Given the description of an element on the screen output the (x, y) to click on. 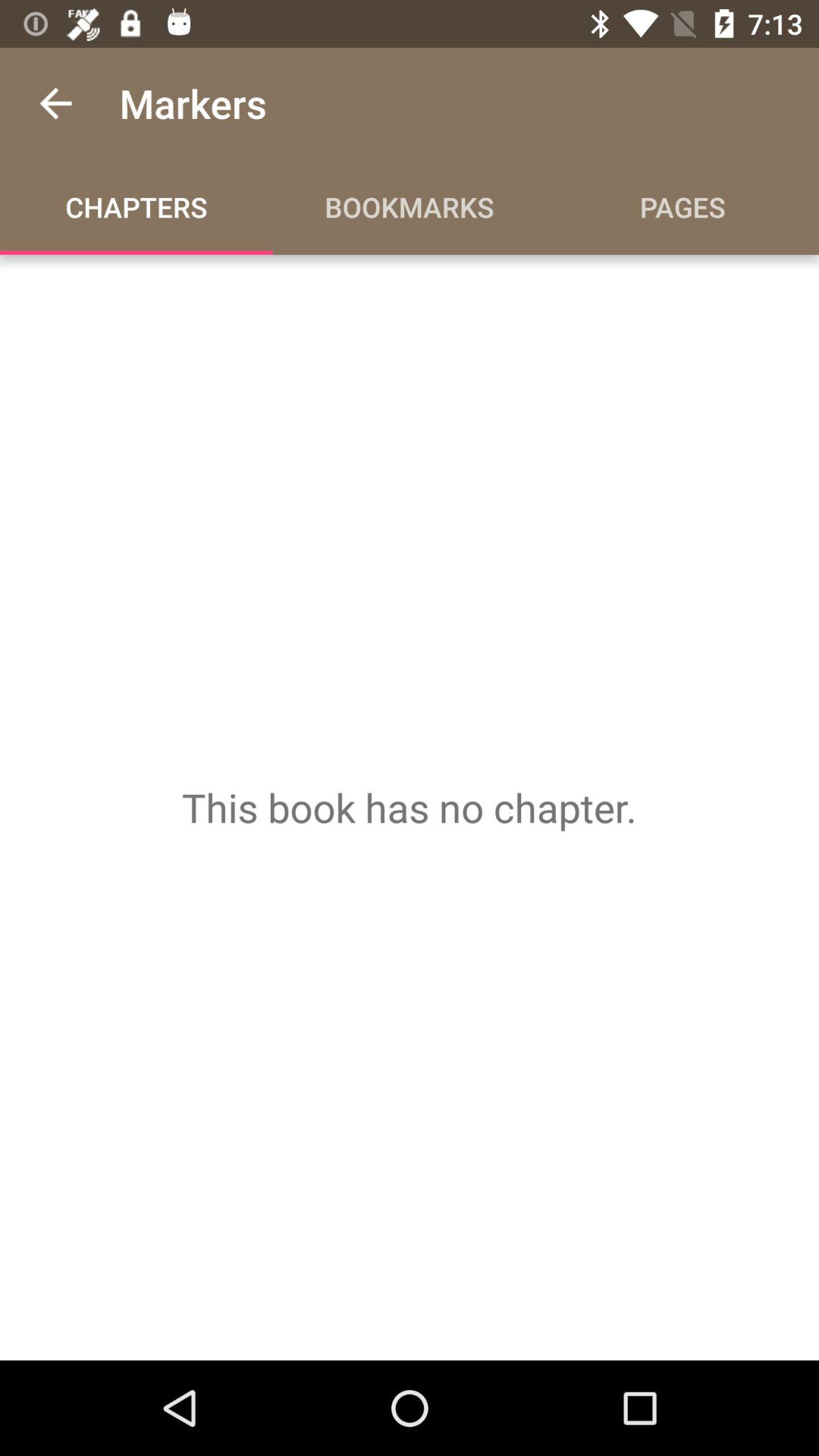
press the icon above chapters (55, 103)
